Given the description of an element on the screen output the (x, y) to click on. 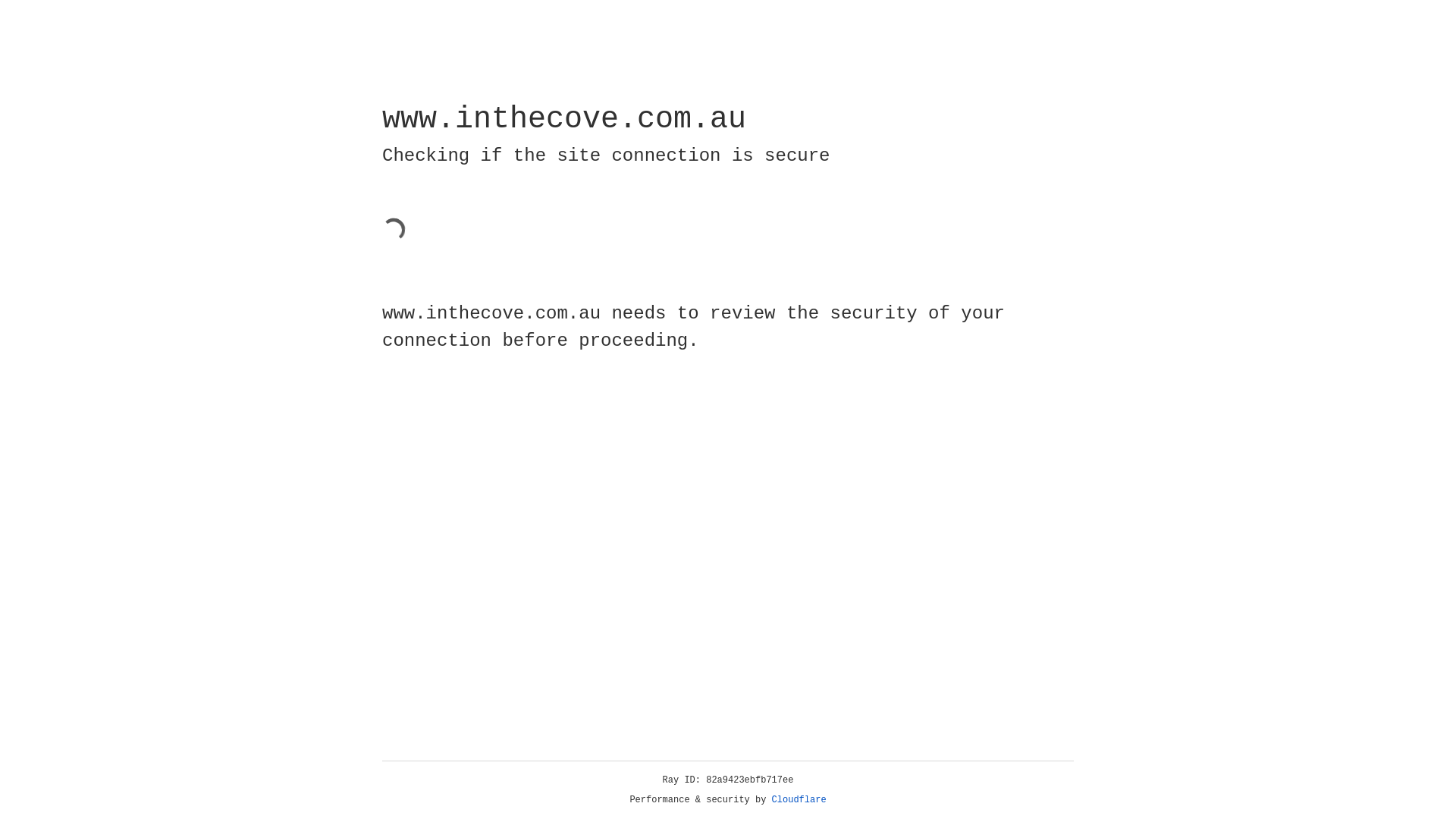
Cloudflare Element type: text (798, 799)
